Given the description of an element on the screen output the (x, y) to click on. 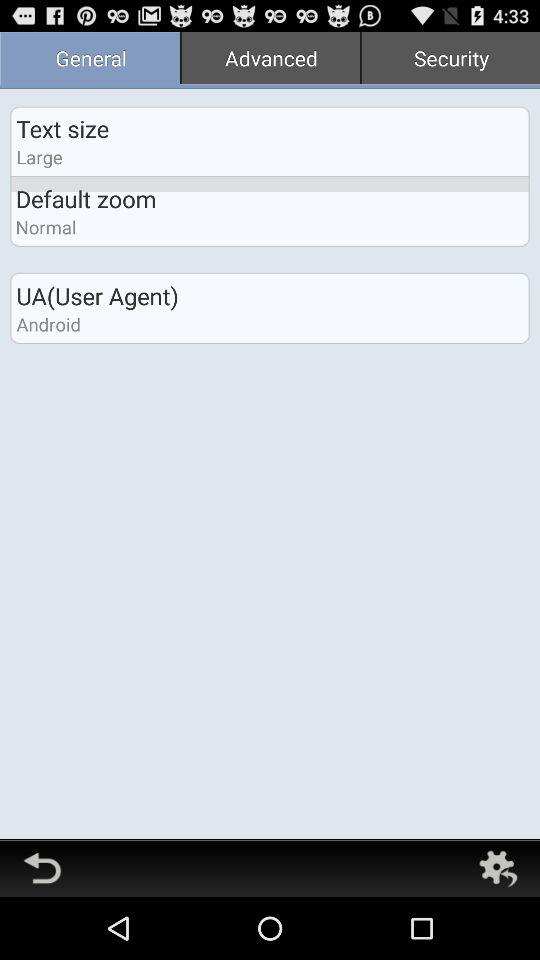
go back (42, 868)
